Given the description of an element on the screen output the (x, y) to click on. 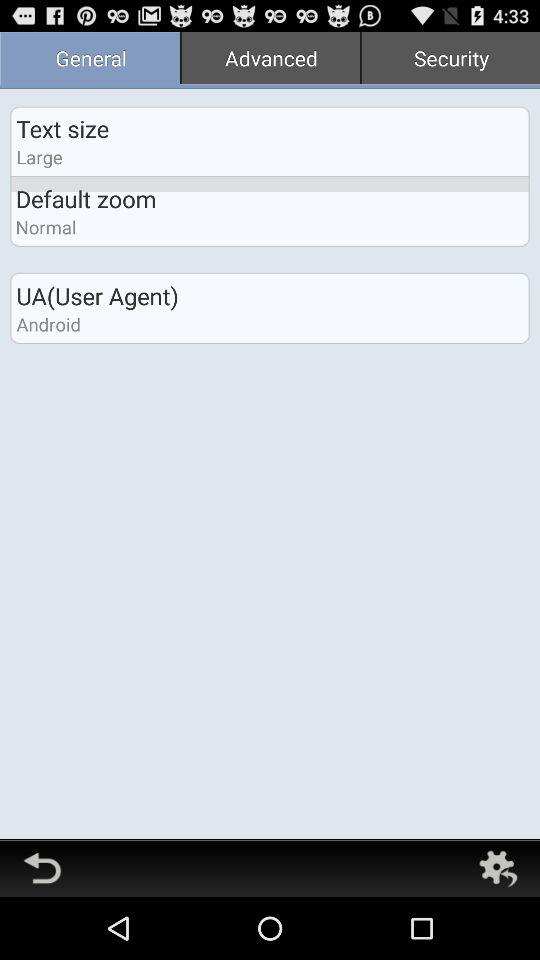
go back (42, 868)
